Given the description of an element on the screen output the (x, y) to click on. 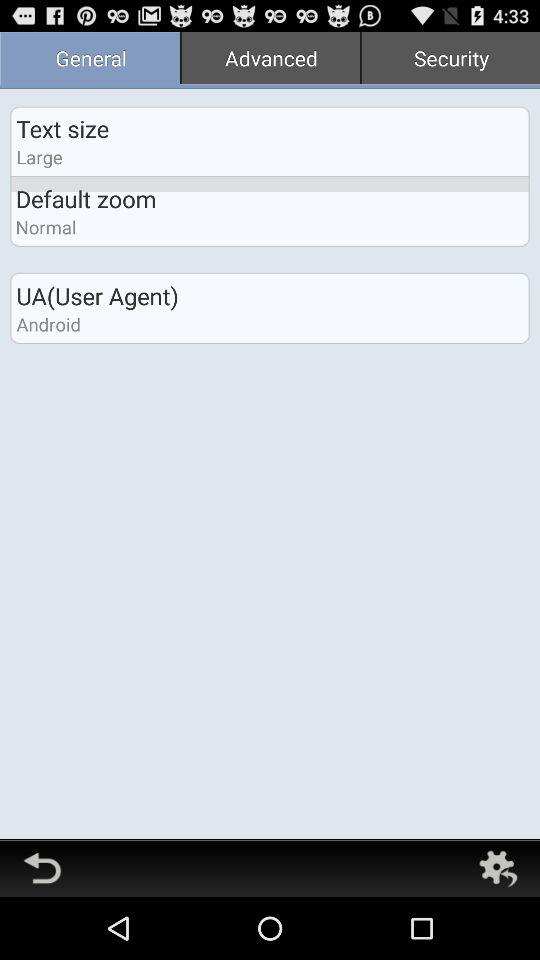
go back (42, 868)
